Given the description of an element on the screen output the (x, y) to click on. 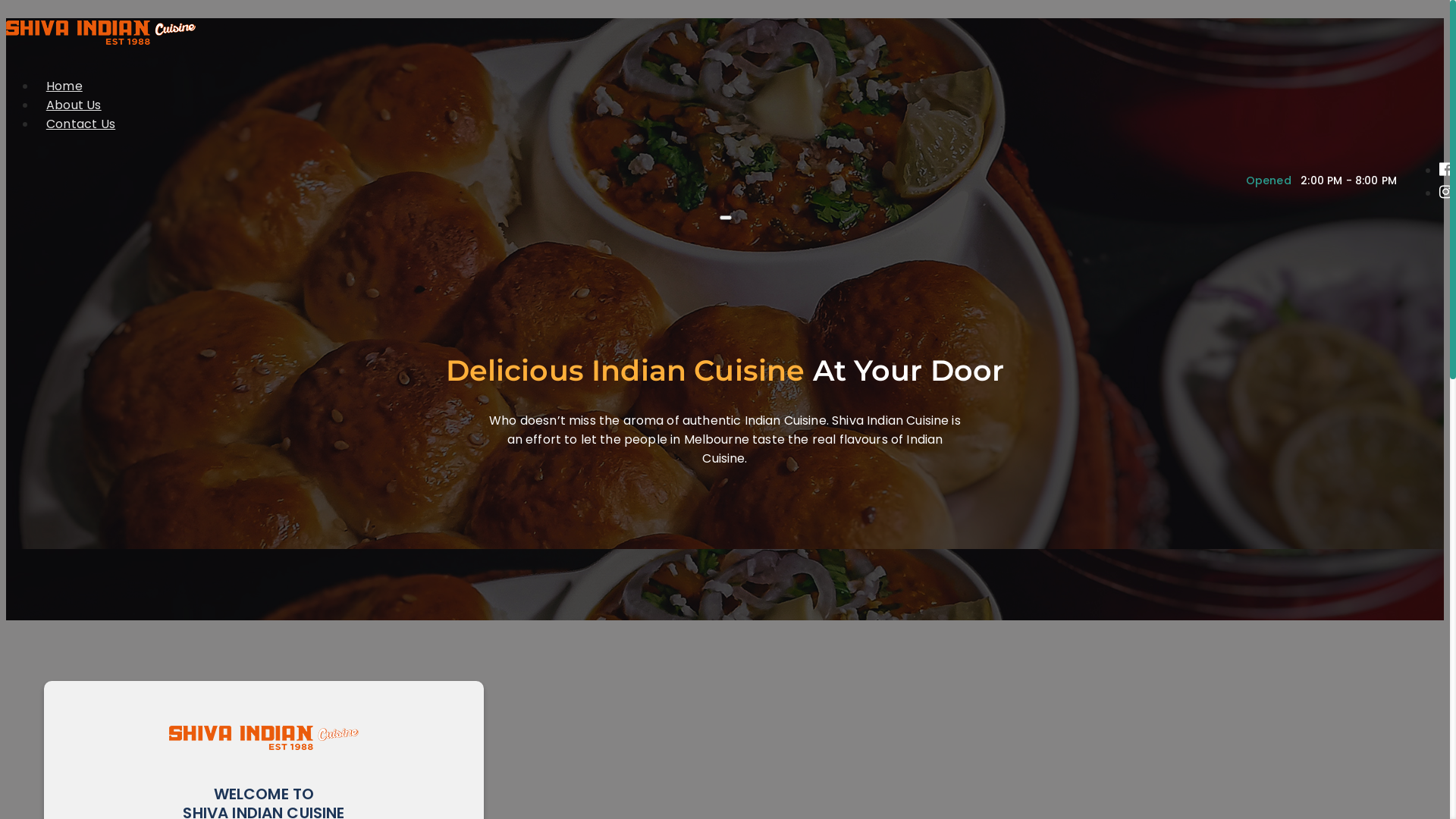
Contact Us Element type: text (80, 123)
Home
(current) Element type: text (64, 85)
About Us Element type: text (73, 104)
